Given the description of an element on the screen output the (x, y) to click on. 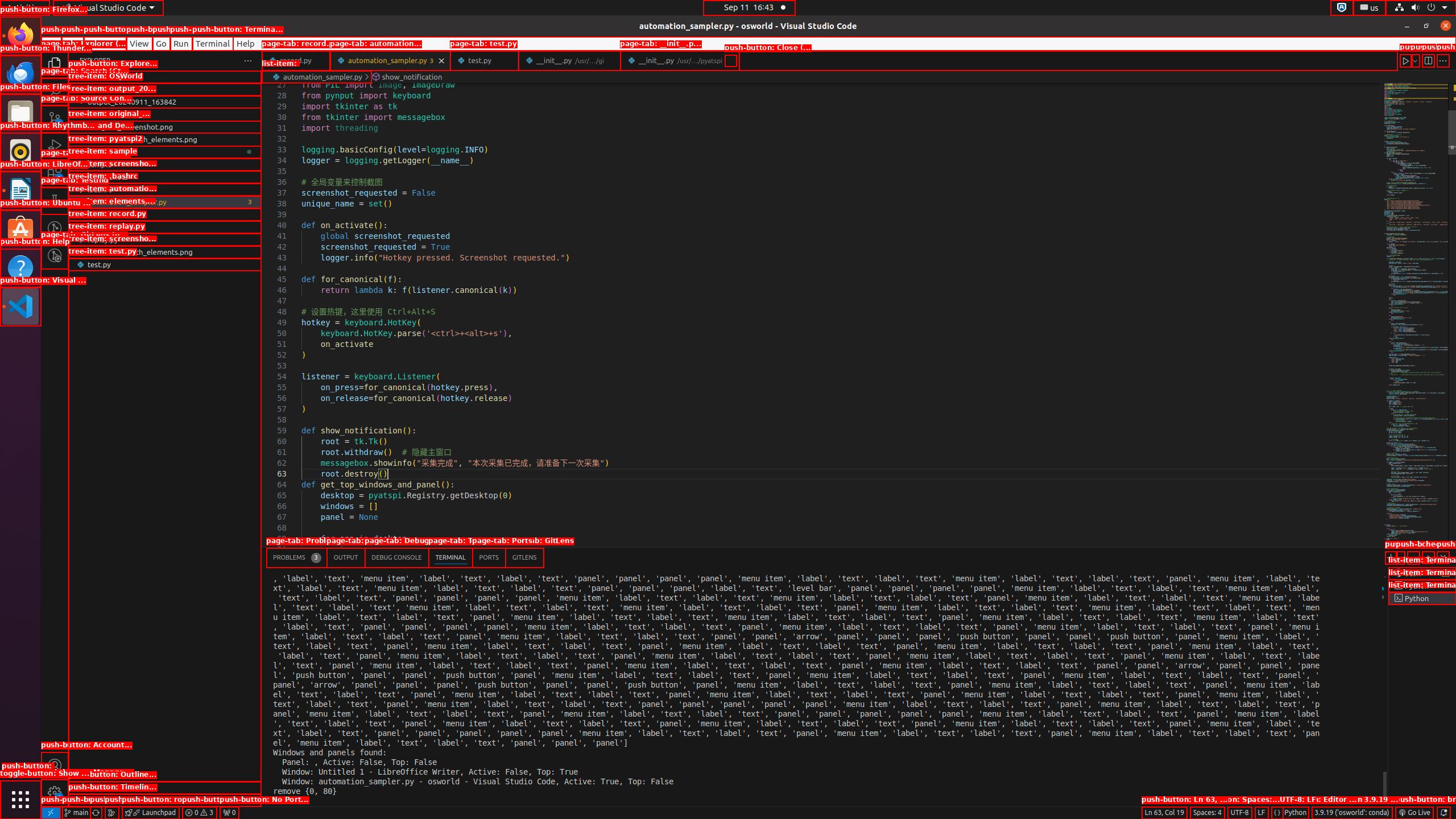
Search (Ctrl+Shift+F) Element type: page-tab (54, 91)
output_20240911_163842 Element type: tree-item (164, 101)
